Given the description of an element on the screen output the (x, y) to click on. 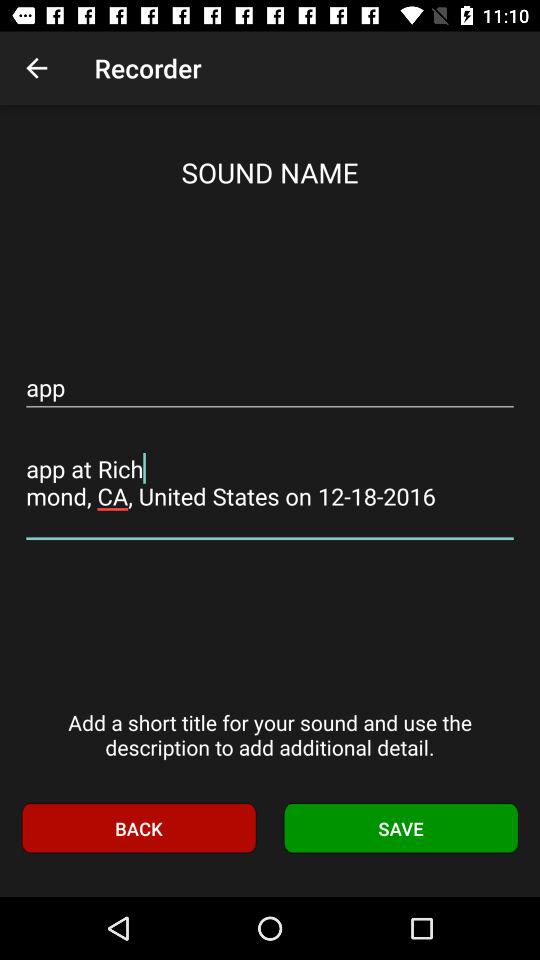
launch icon to the right of the back icon (401, 828)
